Given the description of an element on the screen output the (x, y) to click on. 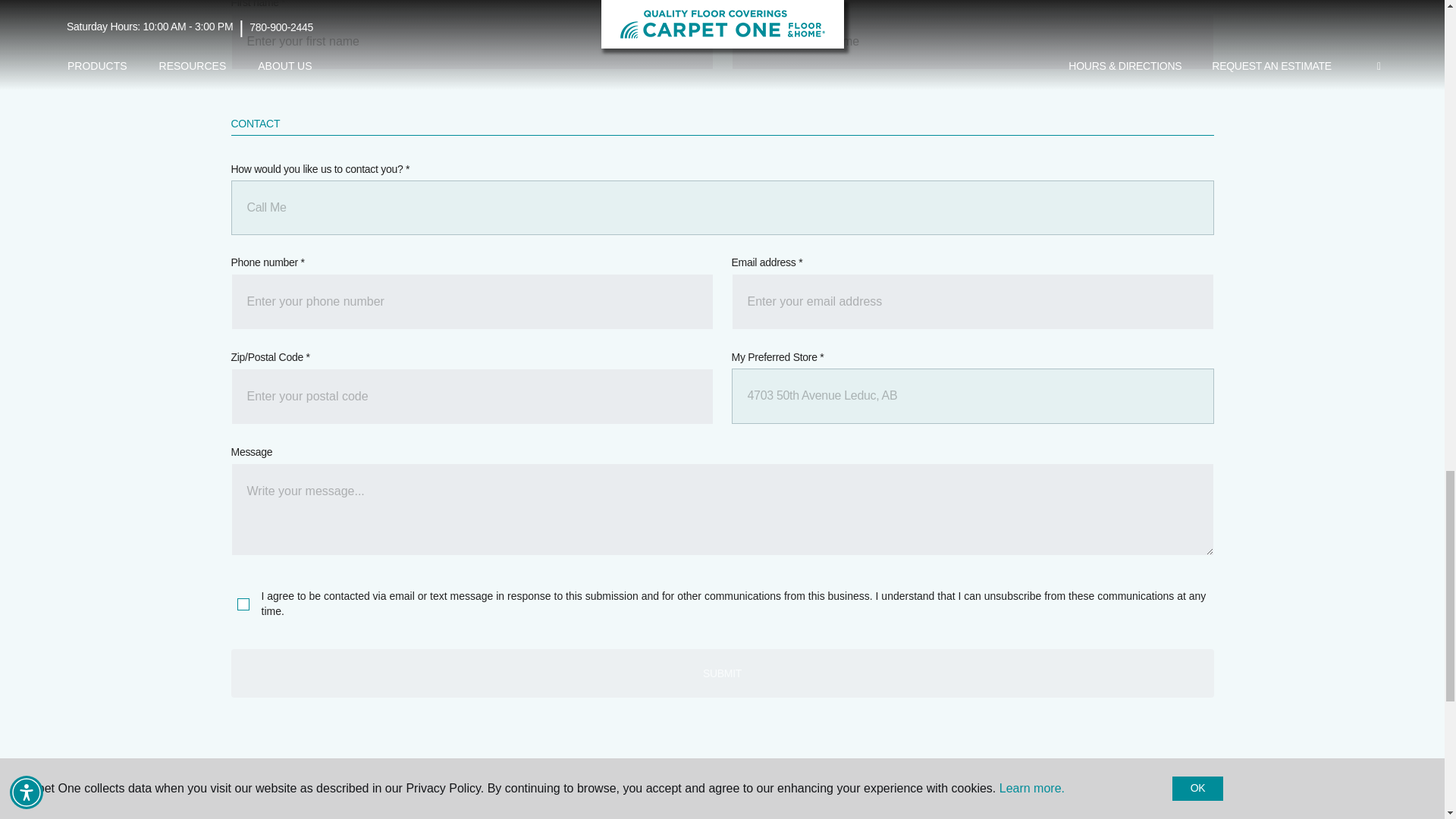
EmailAddress (971, 301)
PostalCode (471, 396)
FirstName (471, 41)
LastName (971, 41)
MyMessage (721, 509)
CleanHomePhone (471, 301)
